Given the description of an element on the screen output the (x, y) to click on. 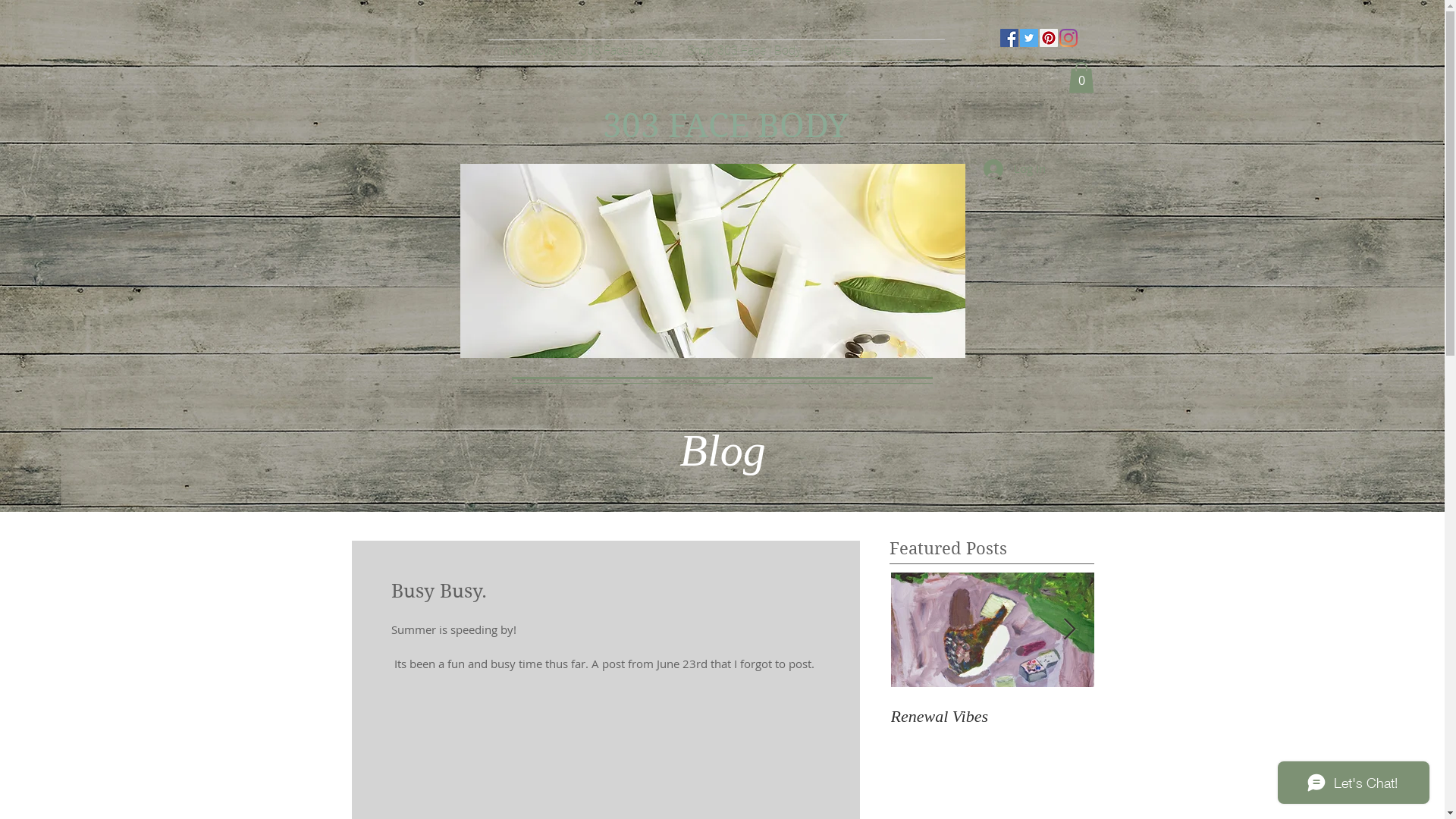
Shop 303 Face | Body Element type: text (743, 50)
Introduction to 303 Face | Body Element type: text (581, 50)
0 Element type: text (1080, 77)
Log In Element type: text (1013, 168)
I Now Pronounce You... Free to be 40... (+). Element type: text (990, 726)
Renewal Vibes Element type: text (1195, 716)
